Given the description of an element on the screen output the (x, y) to click on. 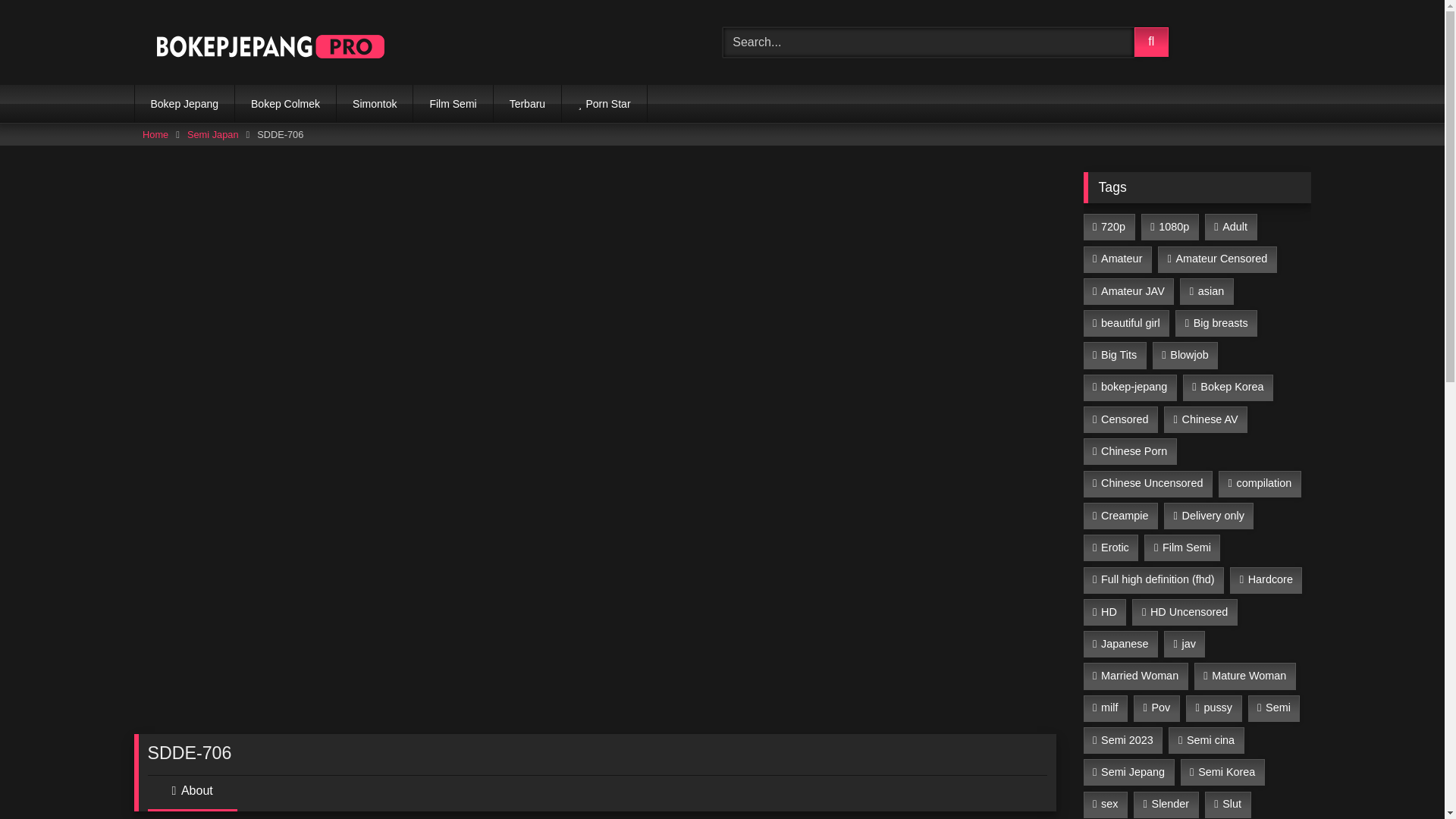
Bokep Jepang (184, 103)
Blowjob (1185, 355)
Amateur JAV (1128, 291)
Amateur (1117, 259)
Bokep Colmek (285, 103)
About (191, 796)
Porn Star (604, 103)
Amateur Censored (1216, 259)
beautiful girl (1126, 323)
